Given the description of an element on the screen output the (x, y) to click on. 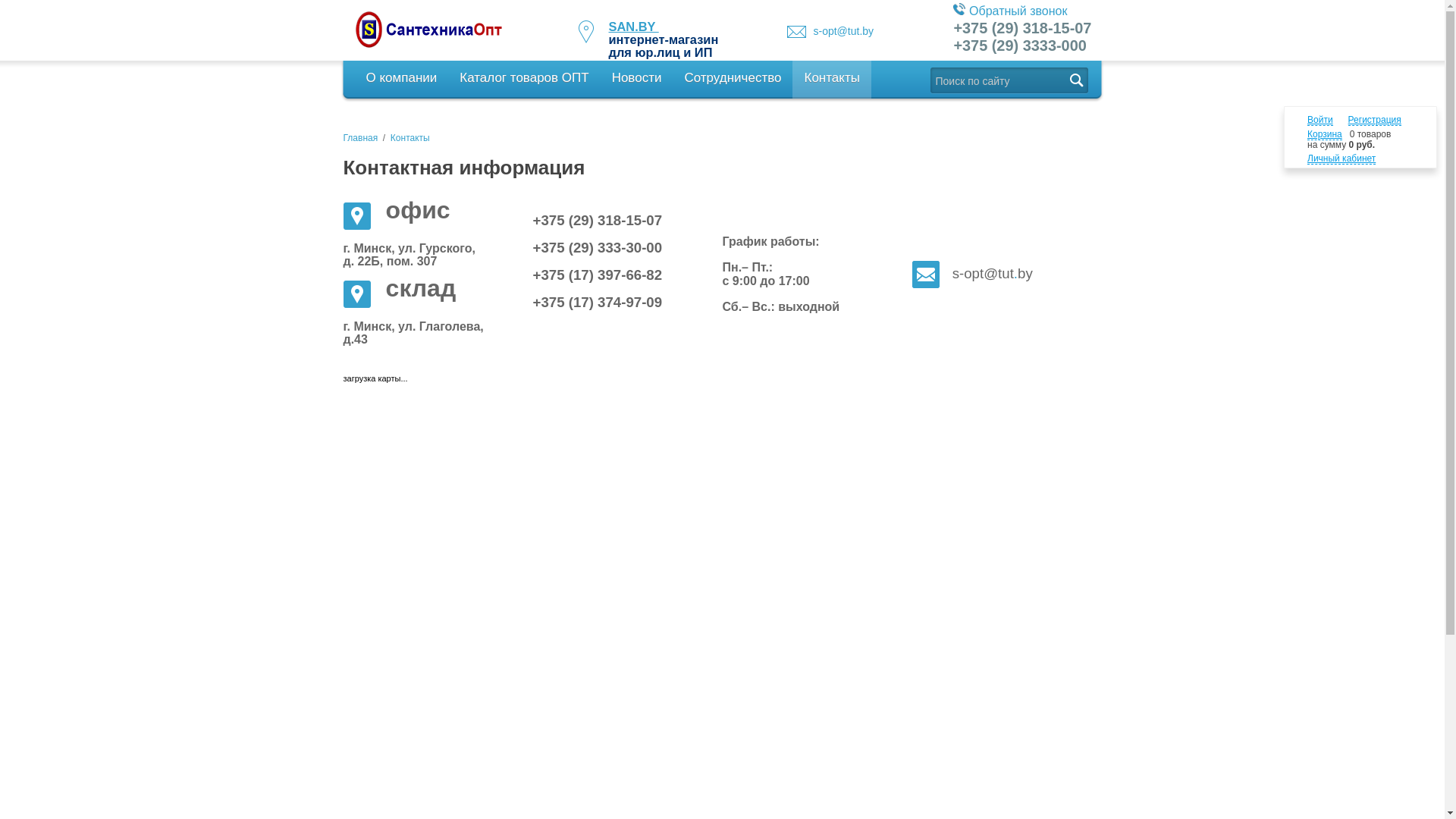
SAN.BY  Element type: text (633, 26)
s-opt@tut.by Element type: text (842, 31)
. Element type: text (1015, 274)
